Given the description of an element on the screen output the (x, y) to click on. 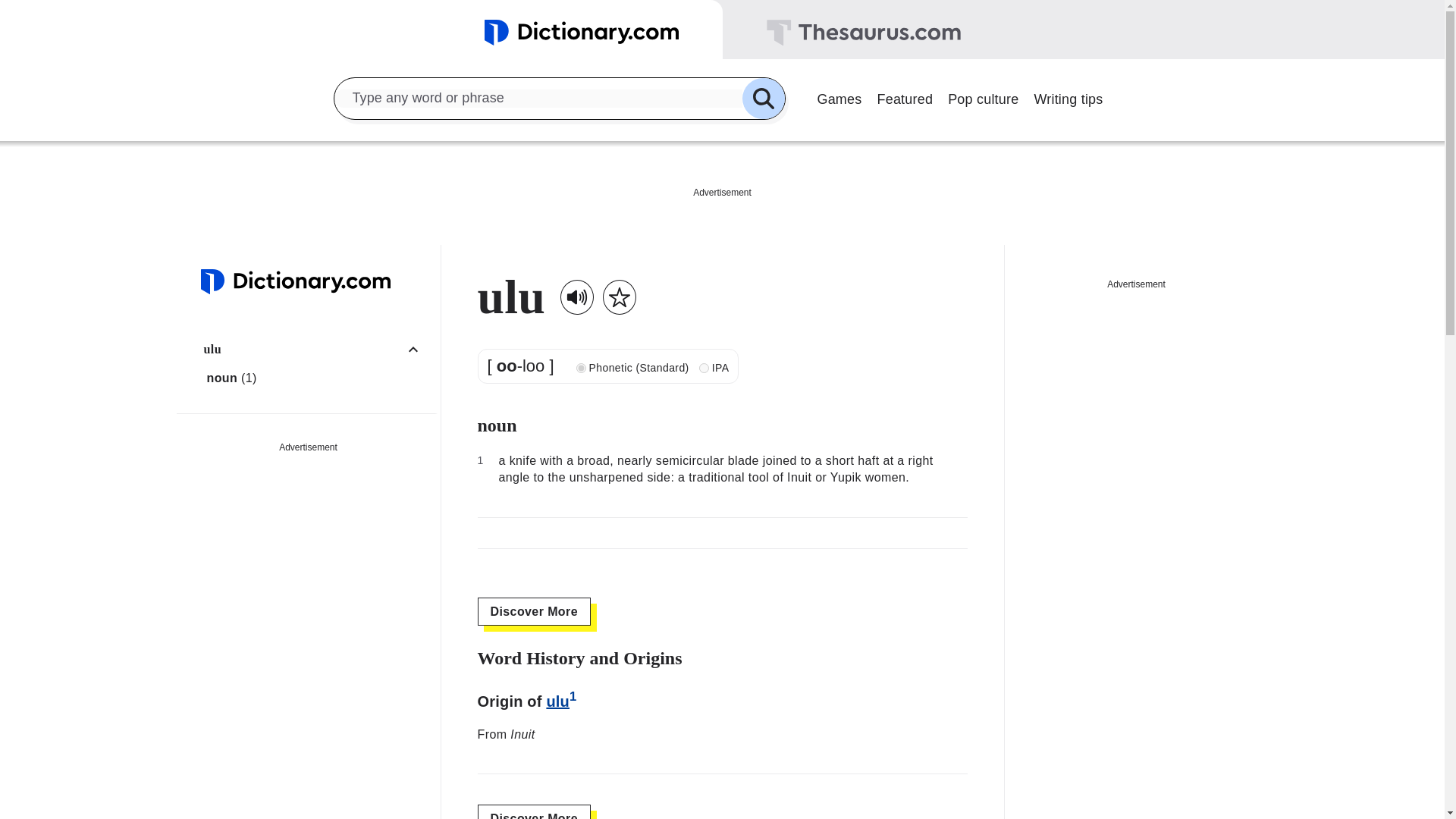
Writing tips (1067, 97)
Featured (904, 97)
Games (839, 97)
ulu1 (561, 701)
ipa (703, 368)
Pop culture (983, 97)
phonetic (581, 368)
ulu (316, 349)
